Given the description of an element on the screen output the (x, y) to click on. 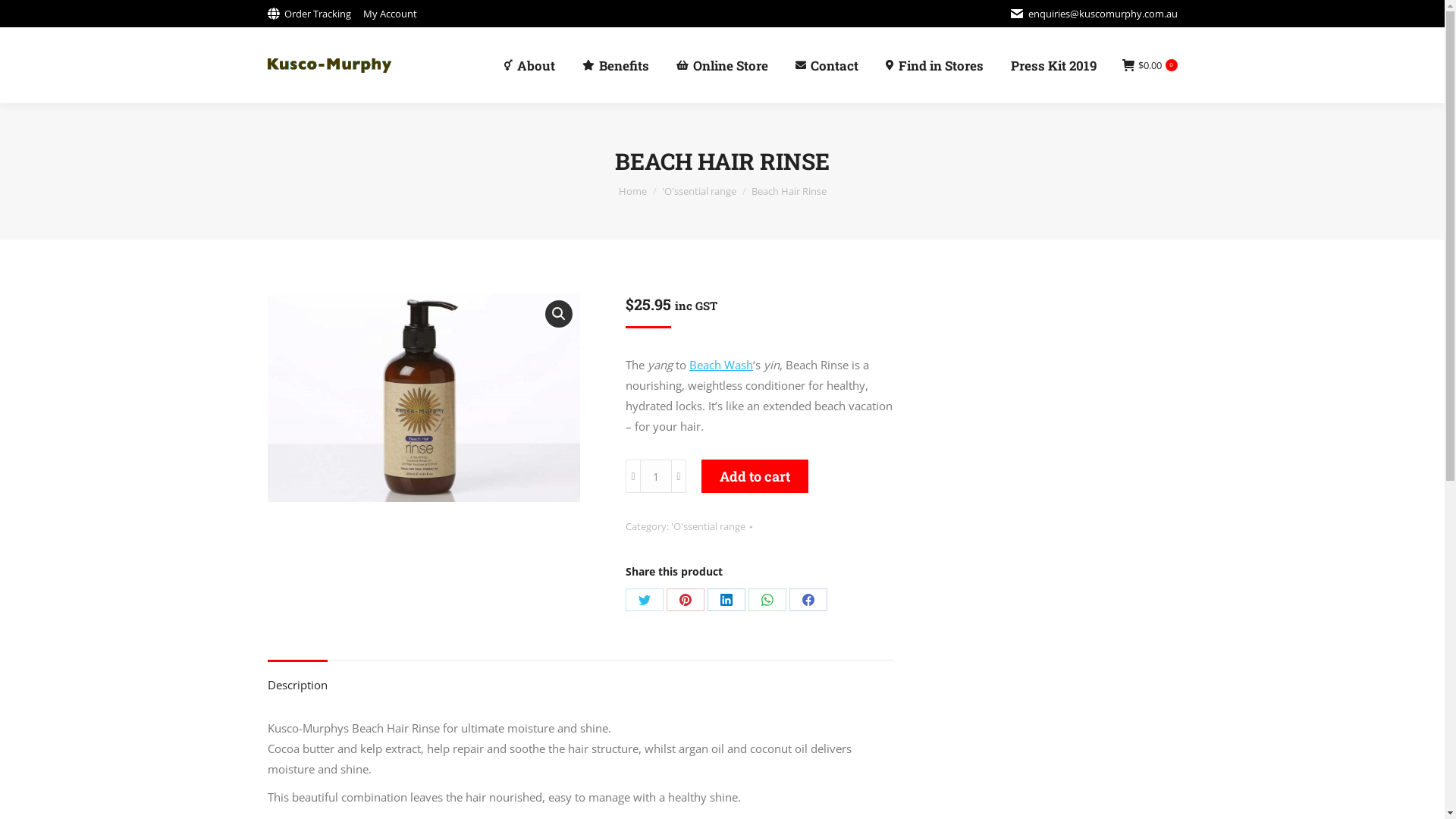
My Account Element type: text (389, 13)
Share on Twitter Element type: text (644, 599)
Kusco-Murphy-Beach-Hair-Rinse-2 Element type: hover (423, 397)
Add to cart Element type: text (754, 475)
Benefits Element type: text (615, 64)
Press Kit 2019 Element type: text (1052, 64)
Beach Wash Element type: text (721, 364)
Contact Element type: text (825, 64)
Share on WhatsApp Element type: text (767, 599)
About Element type: text (528, 64)
Share on Pinterest Element type: text (685, 599)
'O'ssential range Element type: text (708, 526)
Online Store Element type: text (722, 64)
Home Element type: text (632, 190)
Share on Facebook Element type: text (808, 599)
'O'ssential range Element type: text (698, 190)
Find in Stores Element type: text (934, 64)
Order Tracking Element type: text (308, 13)
Share on LinkedIn Element type: text (726, 599)
$0.00
0 Element type: text (1149, 65)
Description Element type: text (296, 684)
